Given the description of an element on the screen output the (x, y) to click on. 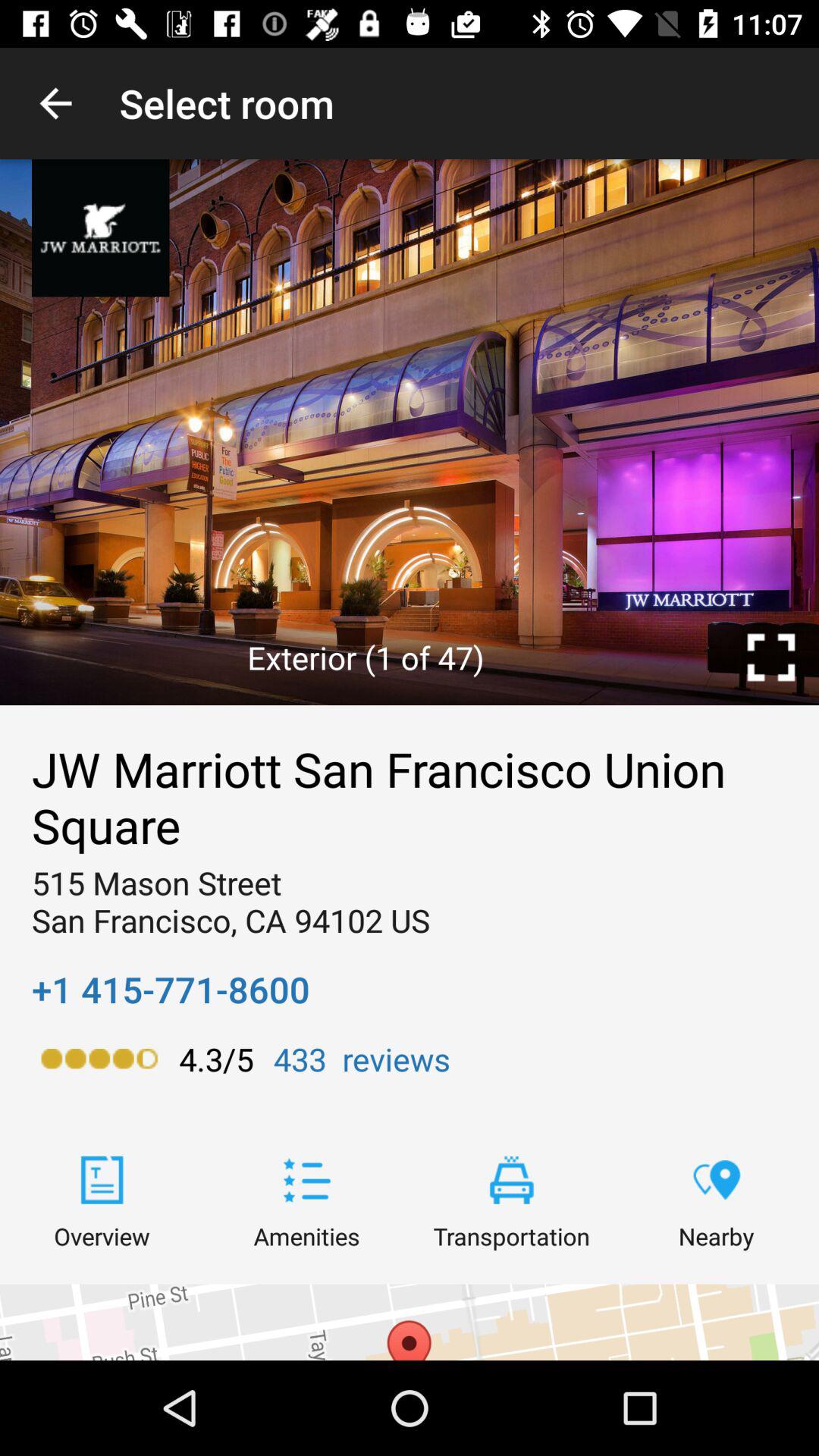
select the app next to the select room (55, 103)
